Given the description of an element on the screen output the (x, y) to click on. 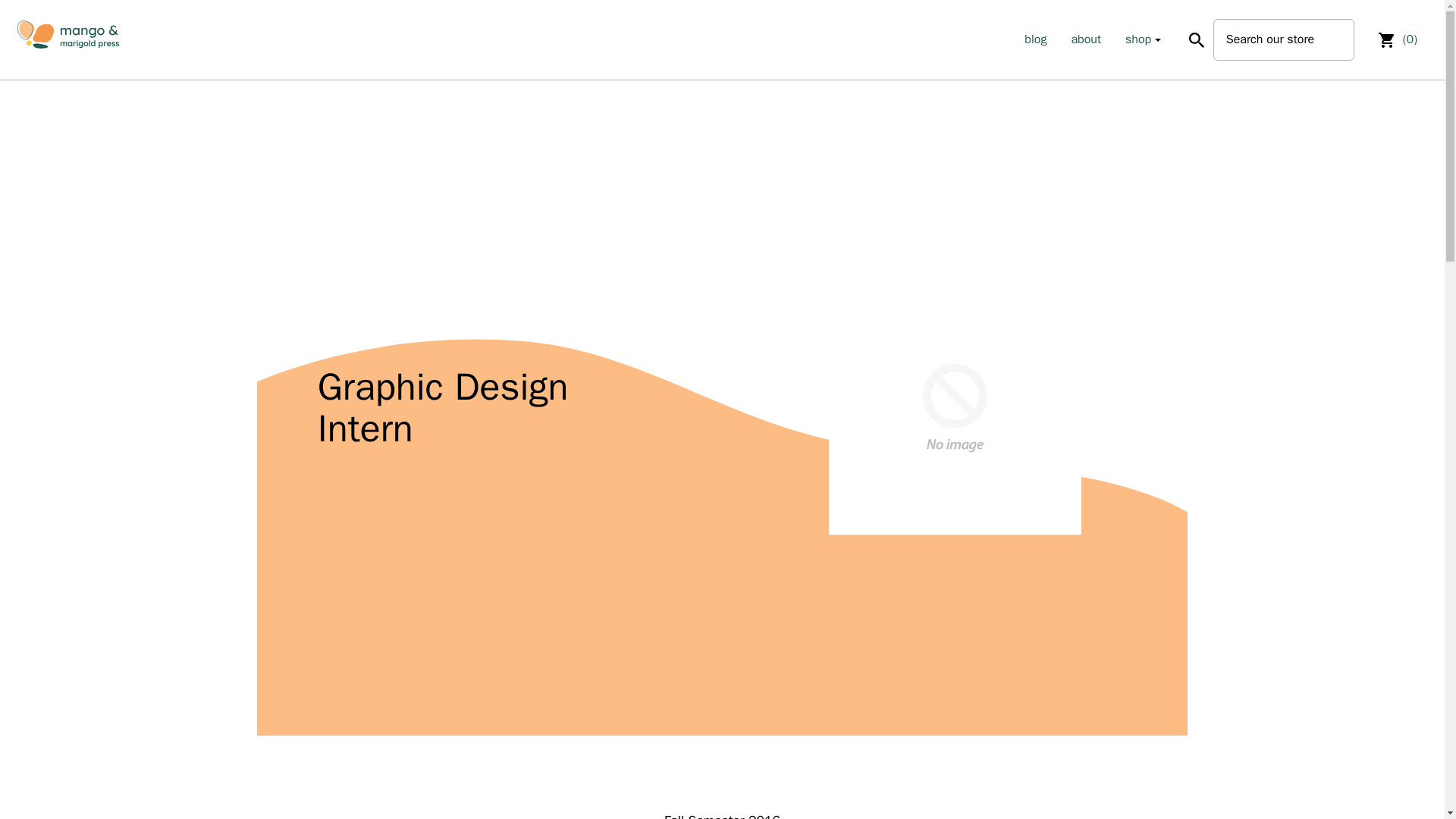
about (1085, 39)
shop (1138, 39)
blog (1035, 39)
